Given the description of an element on the screen output the (x, y) to click on. 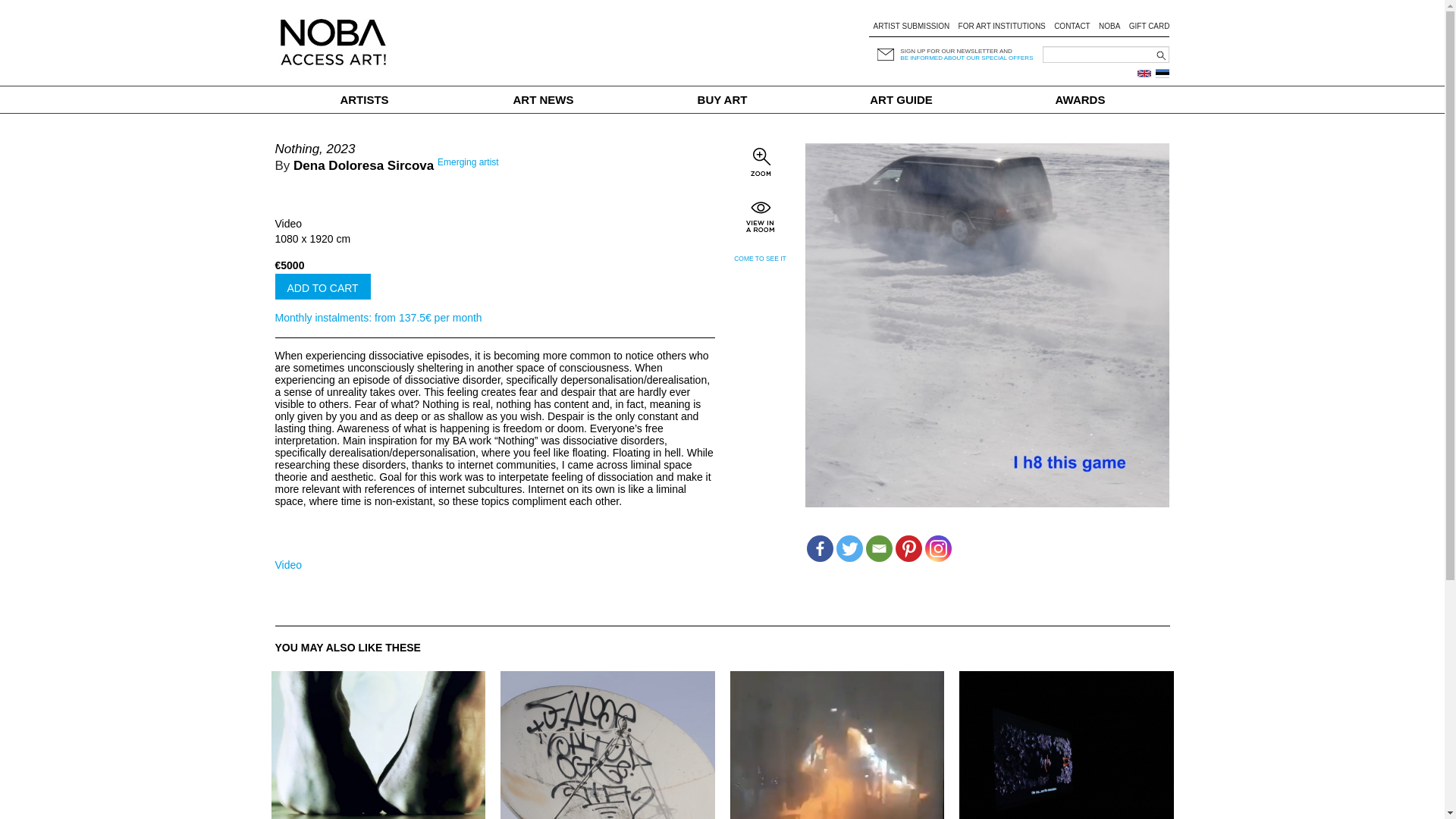
English (1144, 72)
BE INFORMED ABOUT OUR SPECIAL OFFERS (965, 57)
Emerging artist (468, 162)
Eesti (1162, 72)
ARTISTS (363, 99)
Facebook (819, 548)
AWARDS (1080, 99)
FOR ART INSTITUTIONS (1001, 26)
Email (879, 548)
Search (63, 8)
CONTACT (1072, 26)
ARTIST SUBMISSION (910, 26)
NOBA (1109, 26)
Instagram (938, 548)
SIGN UP FOR OUR NEWSLETTER AND (955, 50)
